Given the description of an element on the screen output the (x, y) to click on. 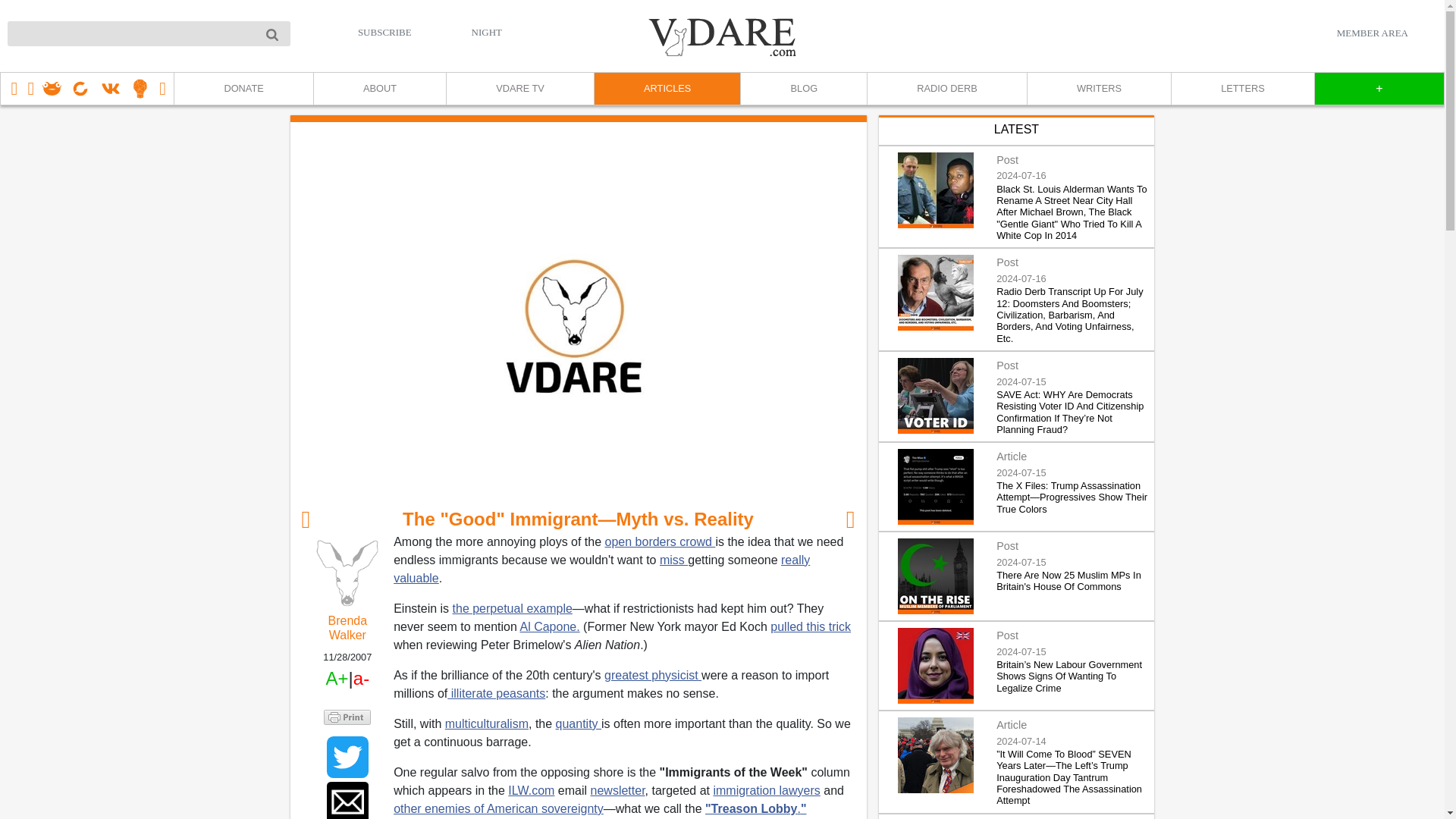
Printer Friendly and PDF (347, 716)
ARTICLES (666, 88)
ABOUT (379, 88)
BLOG (802, 88)
Share to Twitter (347, 757)
Share to Email (347, 800)
SUBSCRIBE (385, 31)
WRITERS (1098, 88)
MEMBER AREA (1371, 32)
RADIO DERB (946, 88)
VDARE TV (519, 88)
LETTERS (1242, 88)
DONATE (243, 88)
